Given the description of an element on the screen output the (x, y) to click on. 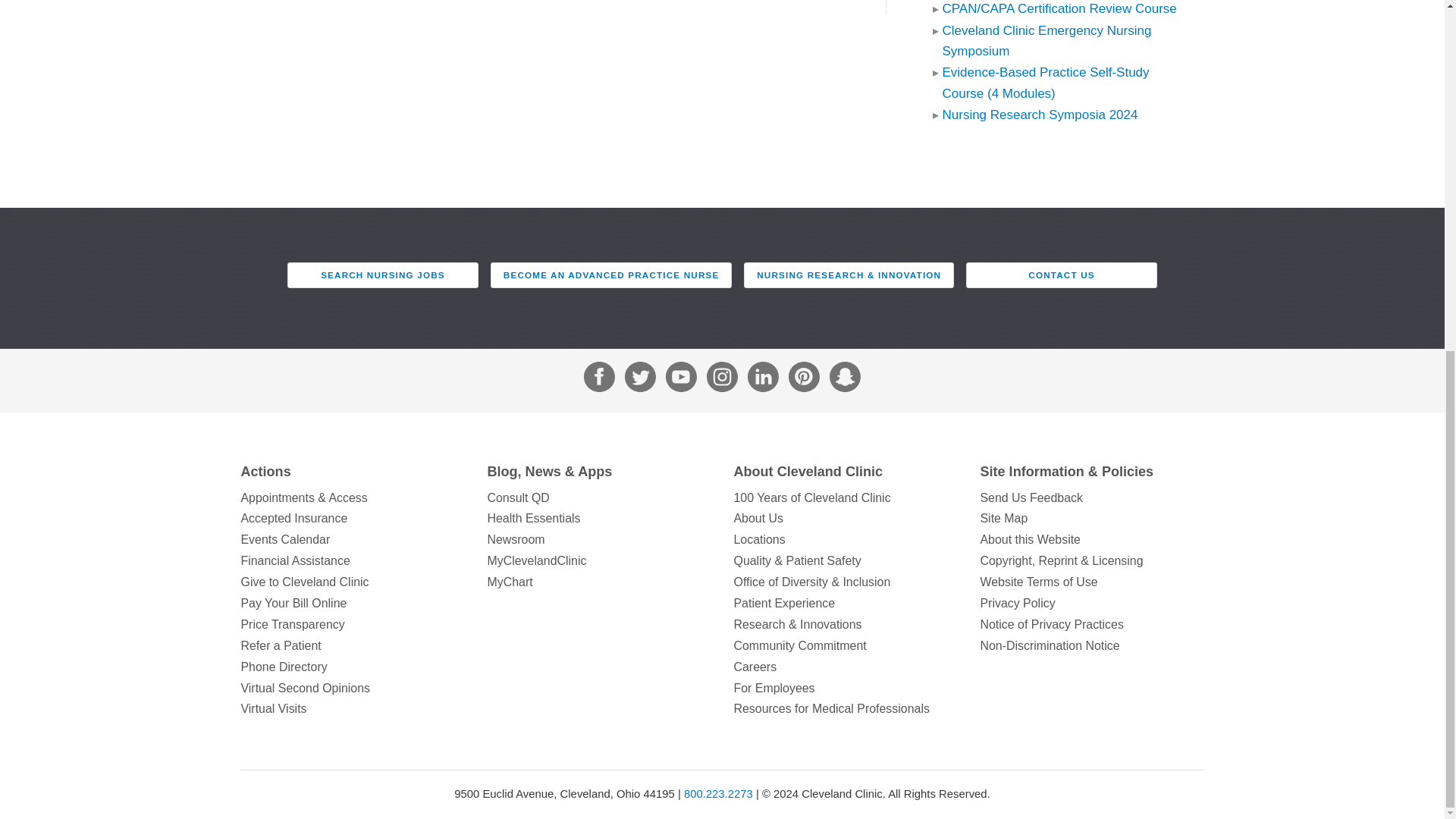
Newsroom (598, 539)
Appointments (352, 497)
Pay Your Bill (352, 603)
Send Us Feedback (1091, 497)
Price Transparency (352, 624)
Careers (845, 667)
Health Essentials (598, 518)
Phone Directory (352, 667)
Consult QD (598, 497)
Accepted Insurance (352, 518)
